Given the description of an element on the screen output the (x, y) to click on. 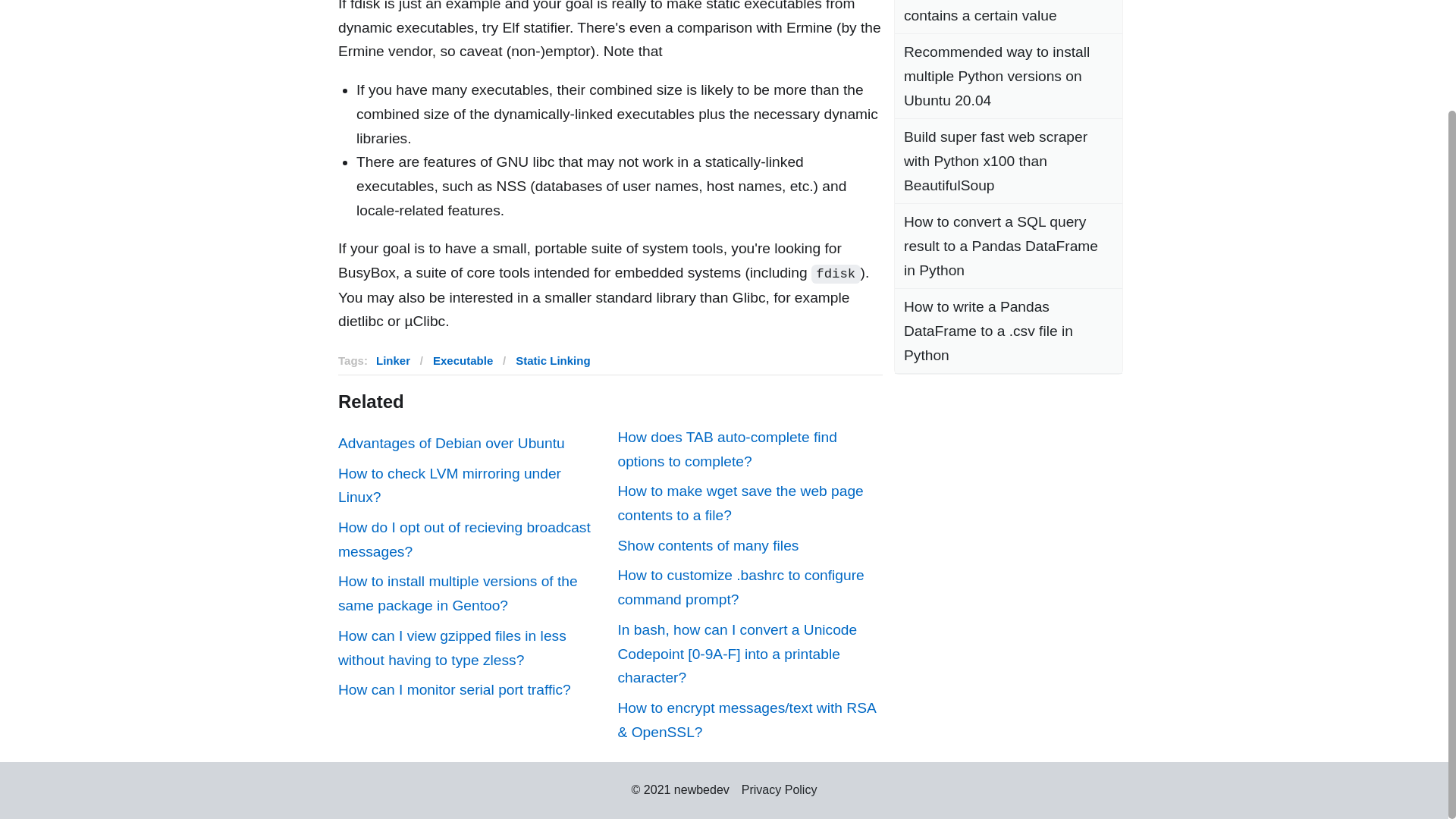
How can I monitor serial port traffic? (470, 689)
How to make wget save the web page contents to a file? (749, 503)
How to check LVM mirroring under Linux? (470, 485)
How to write a Pandas DataFrame to a .csv file in Python (1008, 331)
Pandas how to find column contains a certain value (1008, 17)
Linker (392, 359)
Linker (392, 359)
Advantages of Debian over Ubuntu (470, 443)
Static Linking (552, 359)
Static Linking (552, 359)
